Given the description of an element on the screen output the (x, y) to click on. 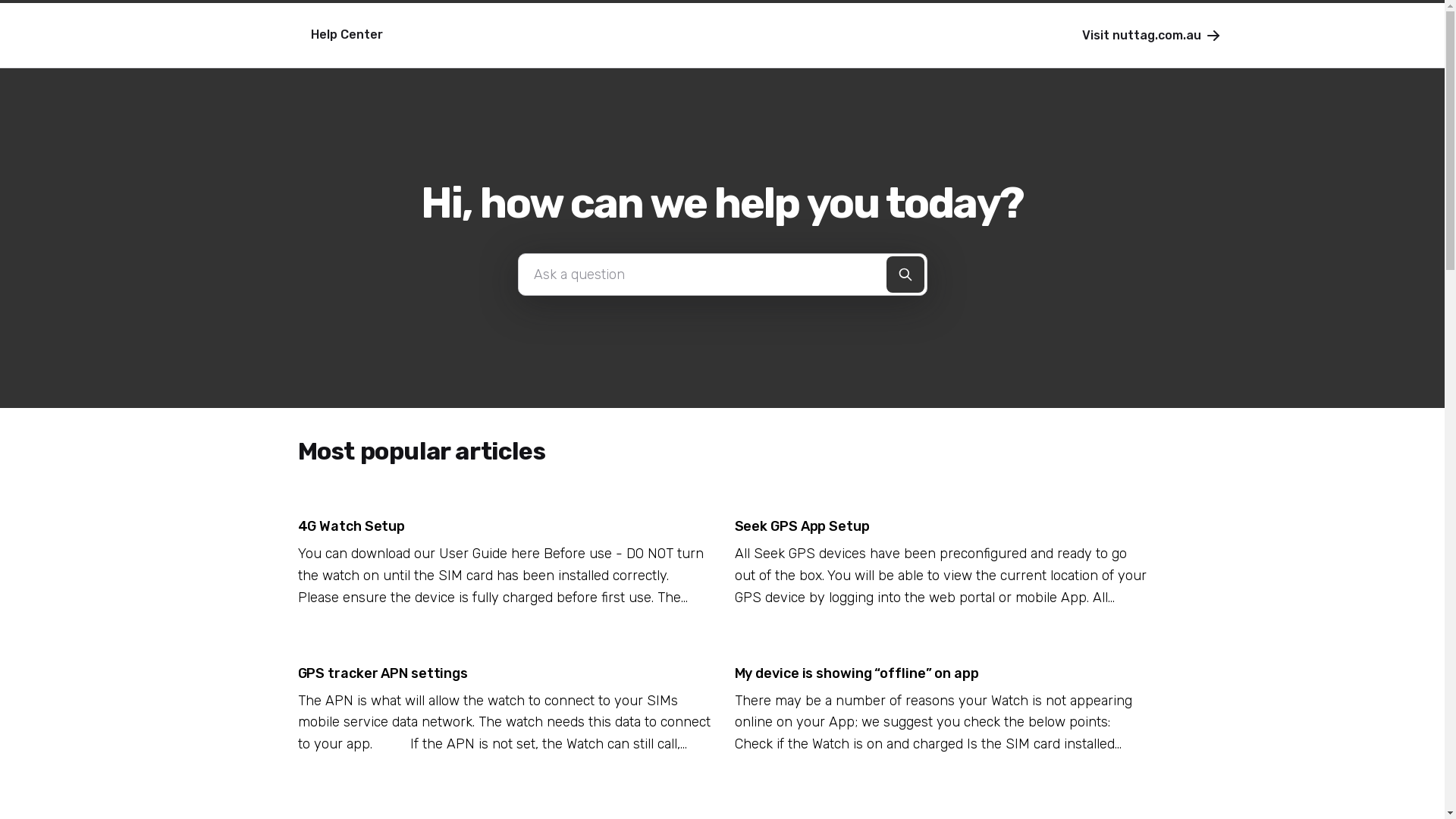
Help Center Element type: text (301, 35)
Visit nuttag.com.au Element type: text (1152, 34)
